Given the description of an element on the screen output the (x, y) to click on. 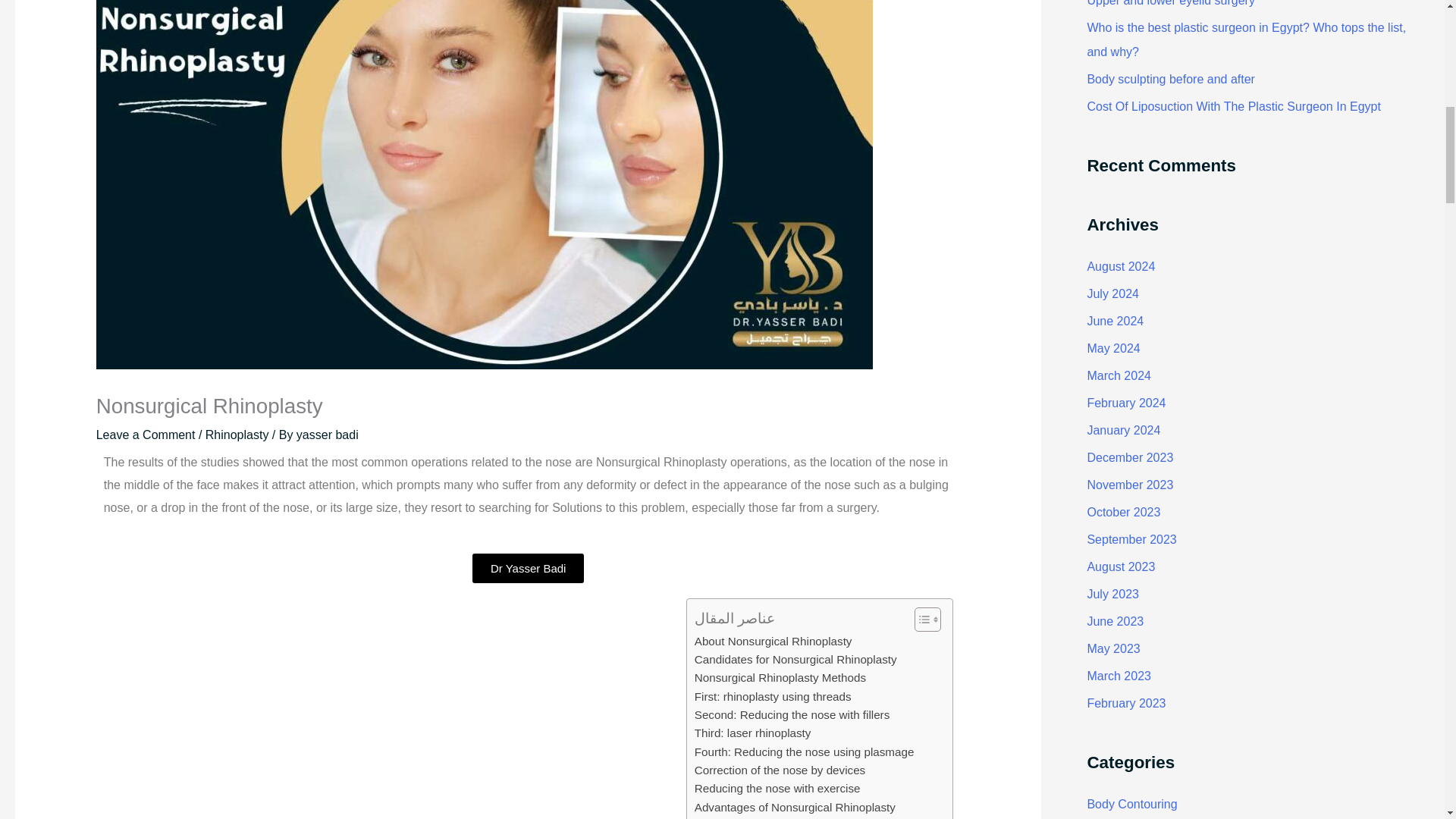
First: rhinoplasty using threads (772, 696)
Second: Reducing the nose with fillers (791, 714)
Reducing the nose with exercise (777, 788)
Third: laser rhinoplasty (752, 732)
Risks of Nonsurgical Rhinoplasty (778, 817)
View all posts by yasser badi (327, 434)
Nonsurgical Rhinoplasty Methods (780, 678)
Leave a Comment (145, 434)
About Nonsurgical Rhinoplasty (772, 641)
Fourth: Reducing the nose using plasmage (804, 751)
